Given the description of an element on the screen output the (x, y) to click on. 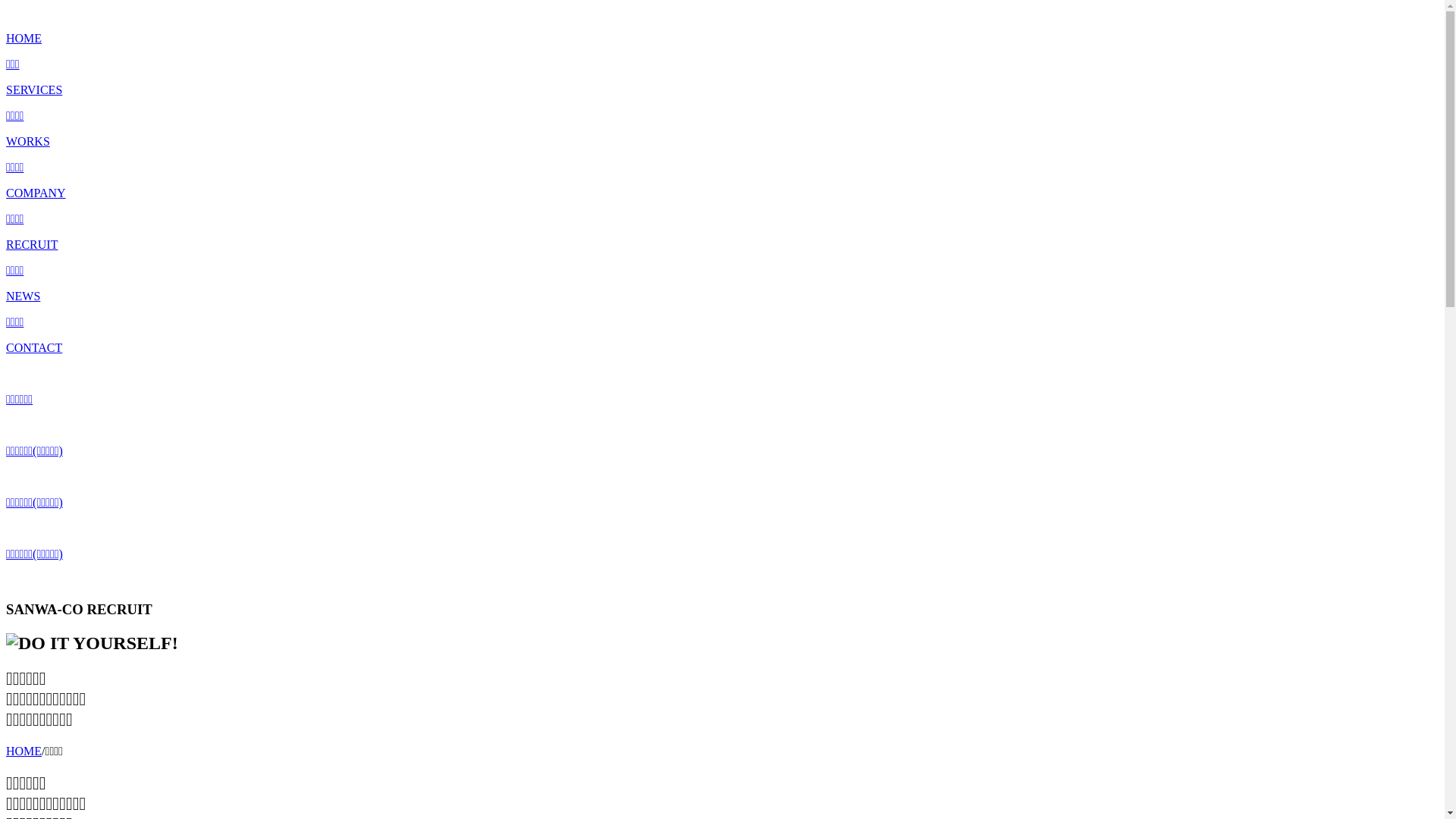
HOME Element type: text (23, 750)
